Given the description of an element on the screen output the (x, y) to click on. 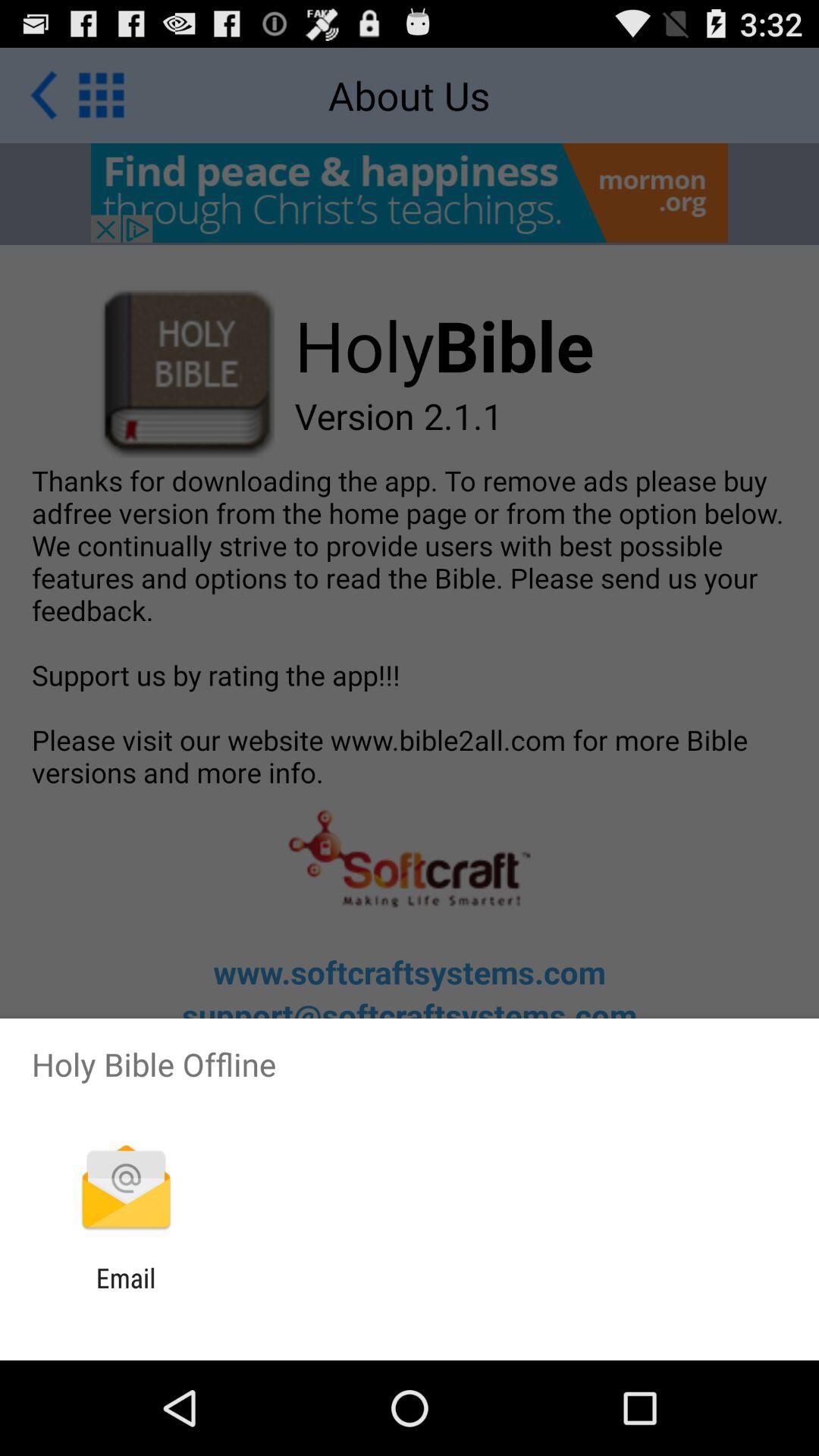
tap the item above the email app (126, 1189)
